Given the description of an element on the screen output the (x, y) to click on. 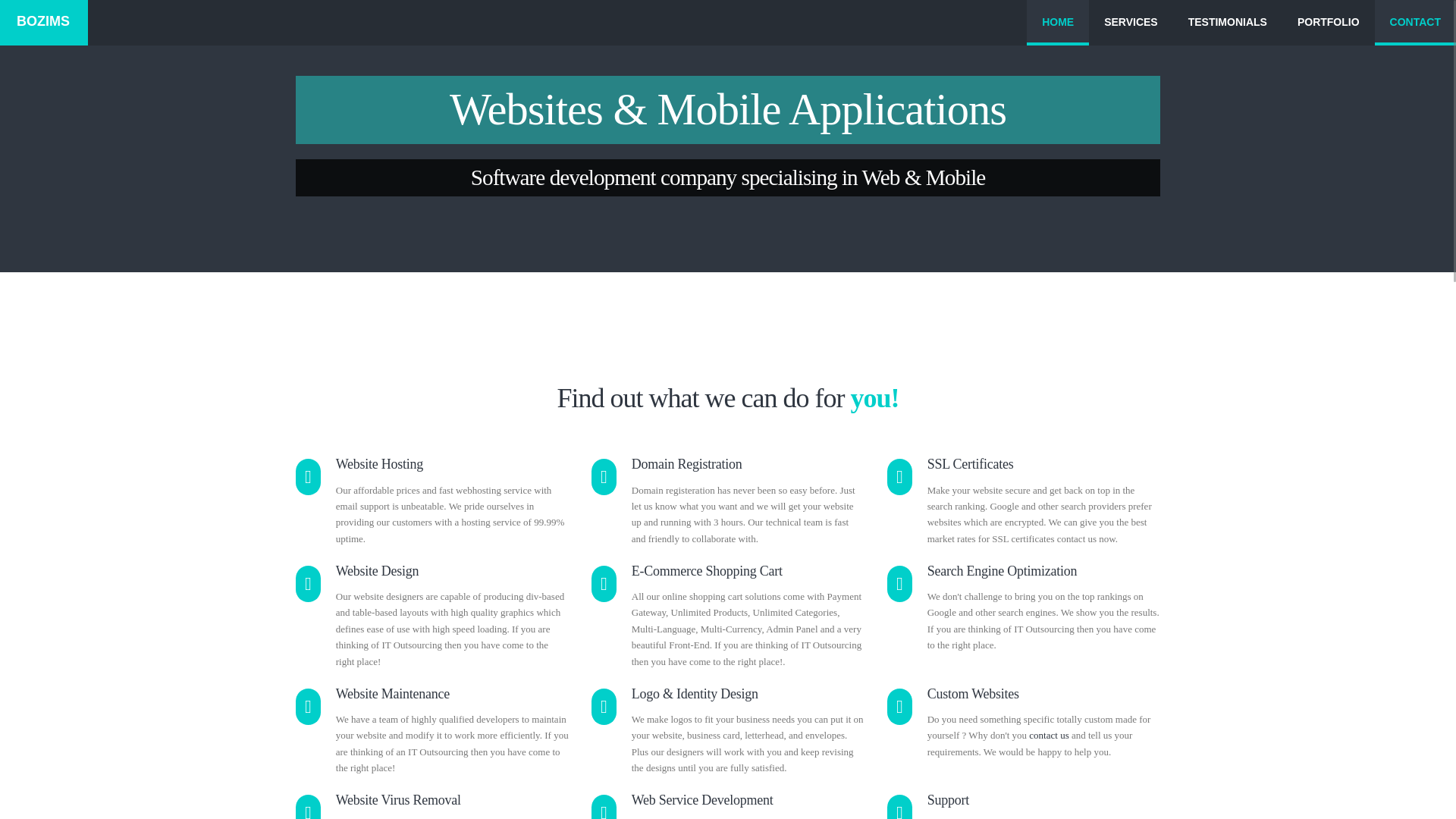
SSL Certificates (970, 463)
Website Hosting (379, 463)
Search Engine Optimization (1002, 570)
contact us (1048, 735)
Domain Registration (686, 463)
PORTFOLIO (1328, 22)
TESTIMONIALS (1227, 22)
Website Design (377, 570)
SERVICES (1131, 22)
Website Virus Removal (398, 799)
Support (948, 799)
HOME (1057, 22)
E-Commerce Shopping Cart (707, 570)
Website Maintenance (392, 693)
Web Service Development (702, 799)
